Given the description of an element on the screen output the (x, y) to click on. 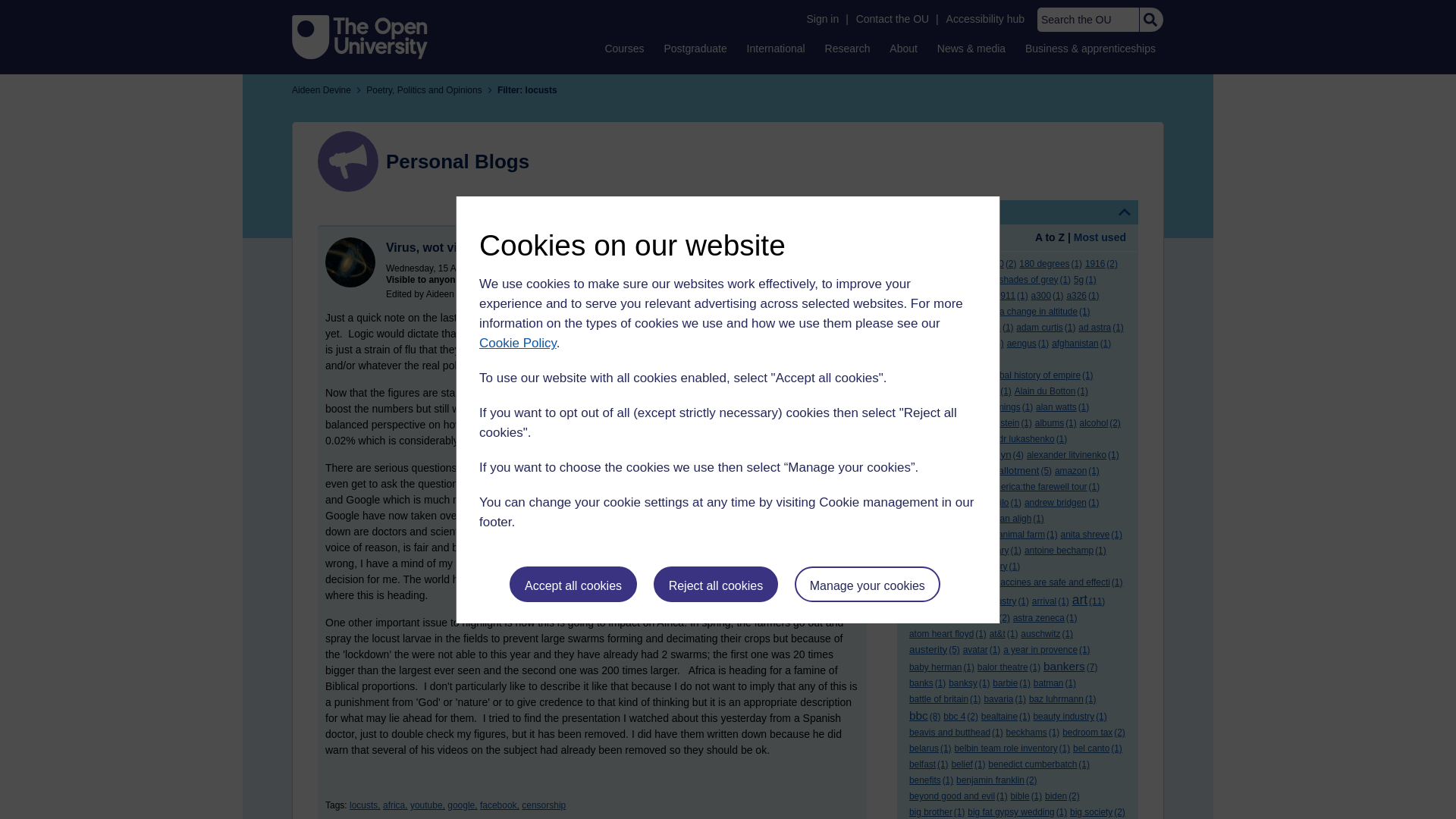
Tags (1017, 211)
Courses (623, 48)
Contact the OU (892, 19)
Accept all cookies (573, 583)
International (775, 48)
The Open University (360, 36)
About (903, 48)
Reject all cookies (715, 583)
Weddin (349, 261)
